Given the description of an element on the screen output the (x, y) to click on. 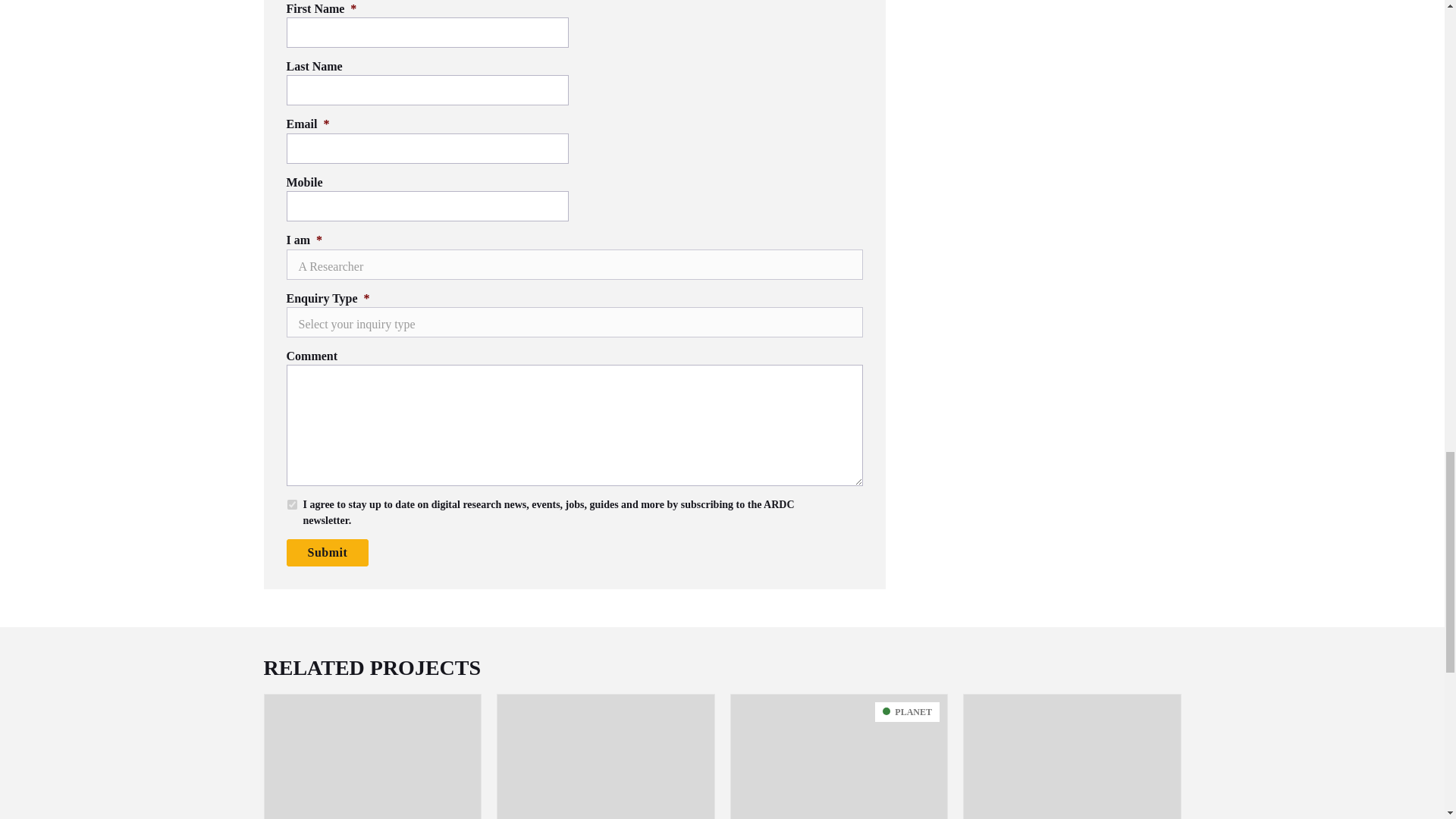
Submit (327, 552)
